Given the description of an element on the screen output the (x, y) to click on. 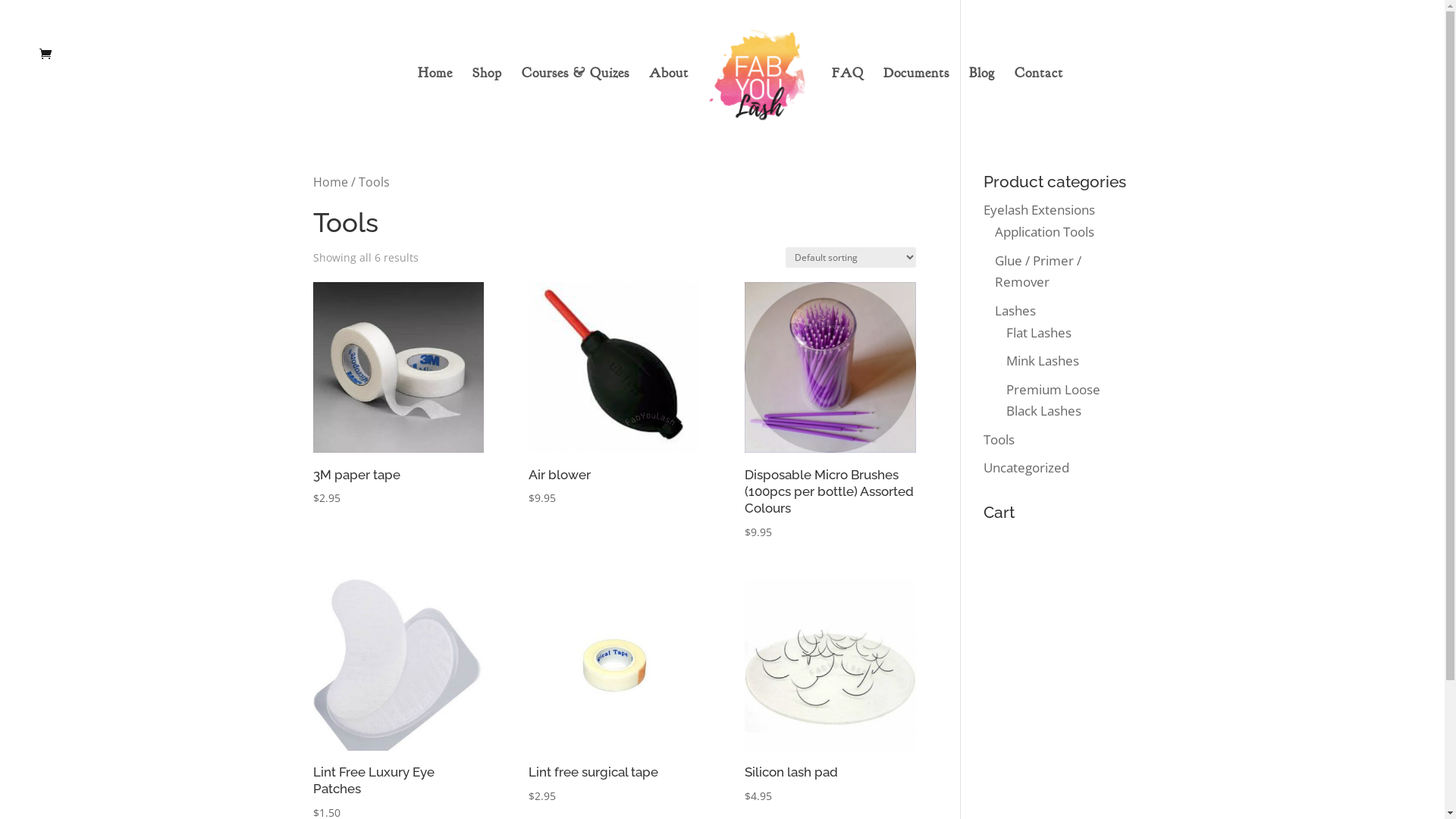
Silicon lash pad
$4.95 Element type: text (829, 691)
Lint free surgical tape
$2.95 Element type: text (613, 691)
Eyelash Extensions Element type: text (1039, 209)
Flat Lashes Element type: text (1038, 332)
Lashes Element type: text (1014, 310)
Blog Element type: text (981, 98)
About Element type: text (668, 98)
Contact Element type: text (1038, 98)
Shop Element type: text (487, 98)
Documents Element type: text (916, 98)
Application Tools Element type: text (1044, 231)
Glue / Primer / Remover Element type: text (1037, 271)
Air blower
$9.95 Element type: text (613, 394)
Courses & Quizes Element type: text (575, 98)
Mink Lashes Element type: text (1042, 360)
Premium Loose Black Lashes Element type: text (1053, 400)
FAQ Element type: text (847, 98)
Uncategorized Element type: text (1026, 467)
Home Element type: text (434, 98)
Tools Element type: text (998, 439)
3M paper tape
$2.95 Element type: text (397, 394)
Home Element type: text (329, 181)
